Given the description of an element on the screen output the (x, y) to click on. 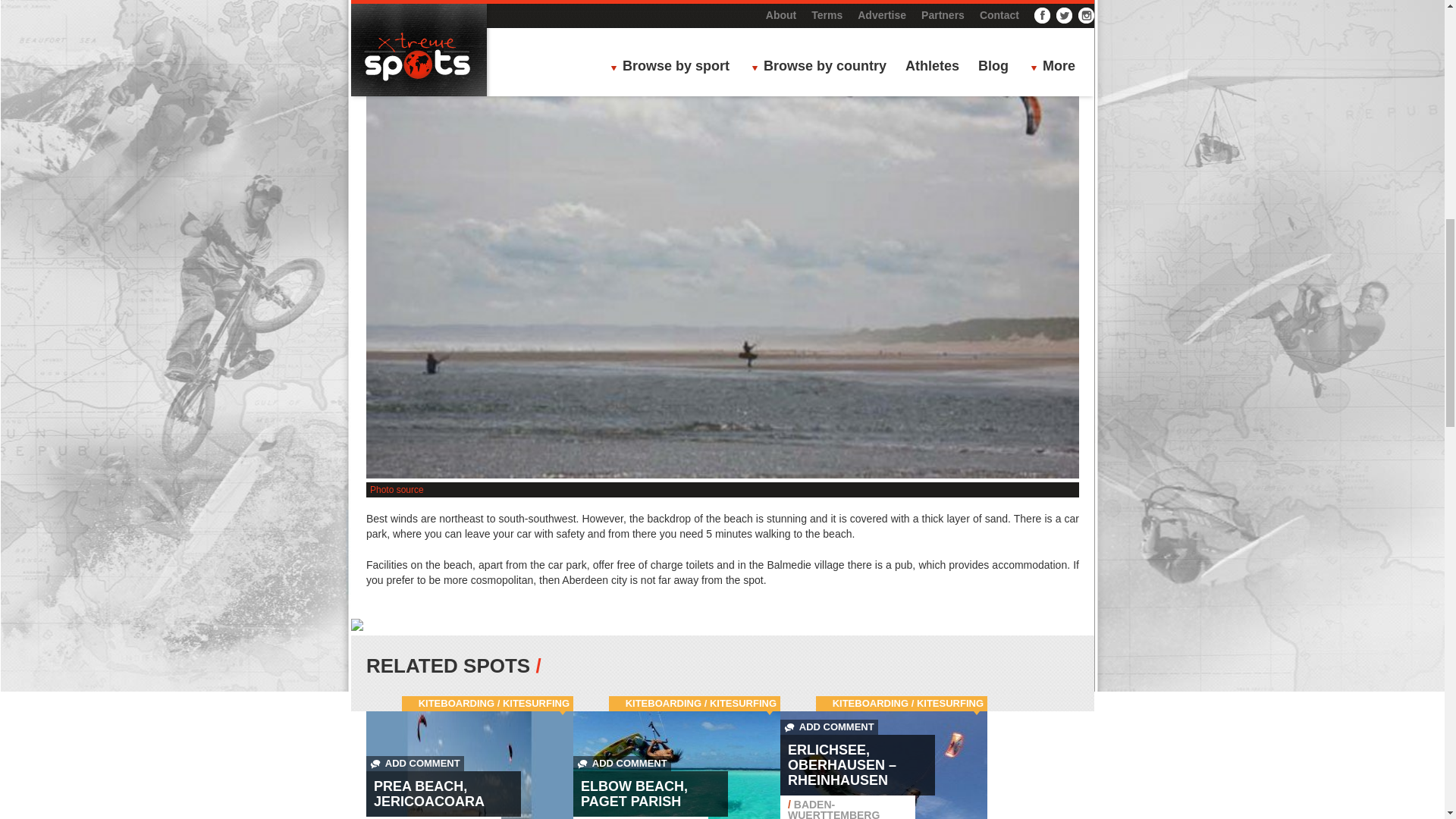
PREA BEACH, JERICOACOARA (429, 793)
  ADD COMMENT (415, 763)
Photo source (396, 489)
